Given the description of an element on the screen output the (x, y) to click on. 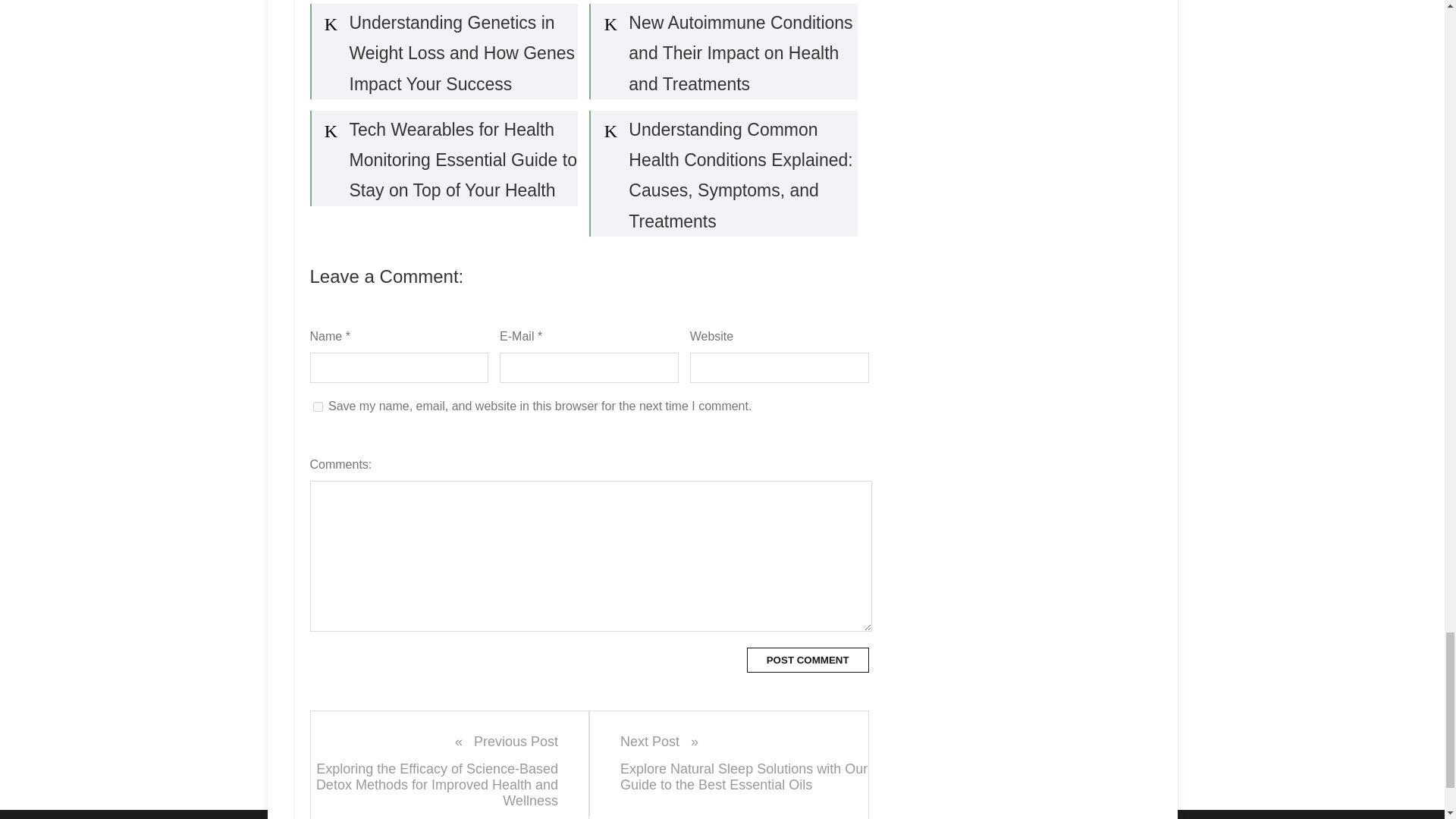
yes (317, 406)
Post Comment (807, 659)
Post Comment (807, 659)
